Given the description of an element on the screen output the (x, y) to click on. 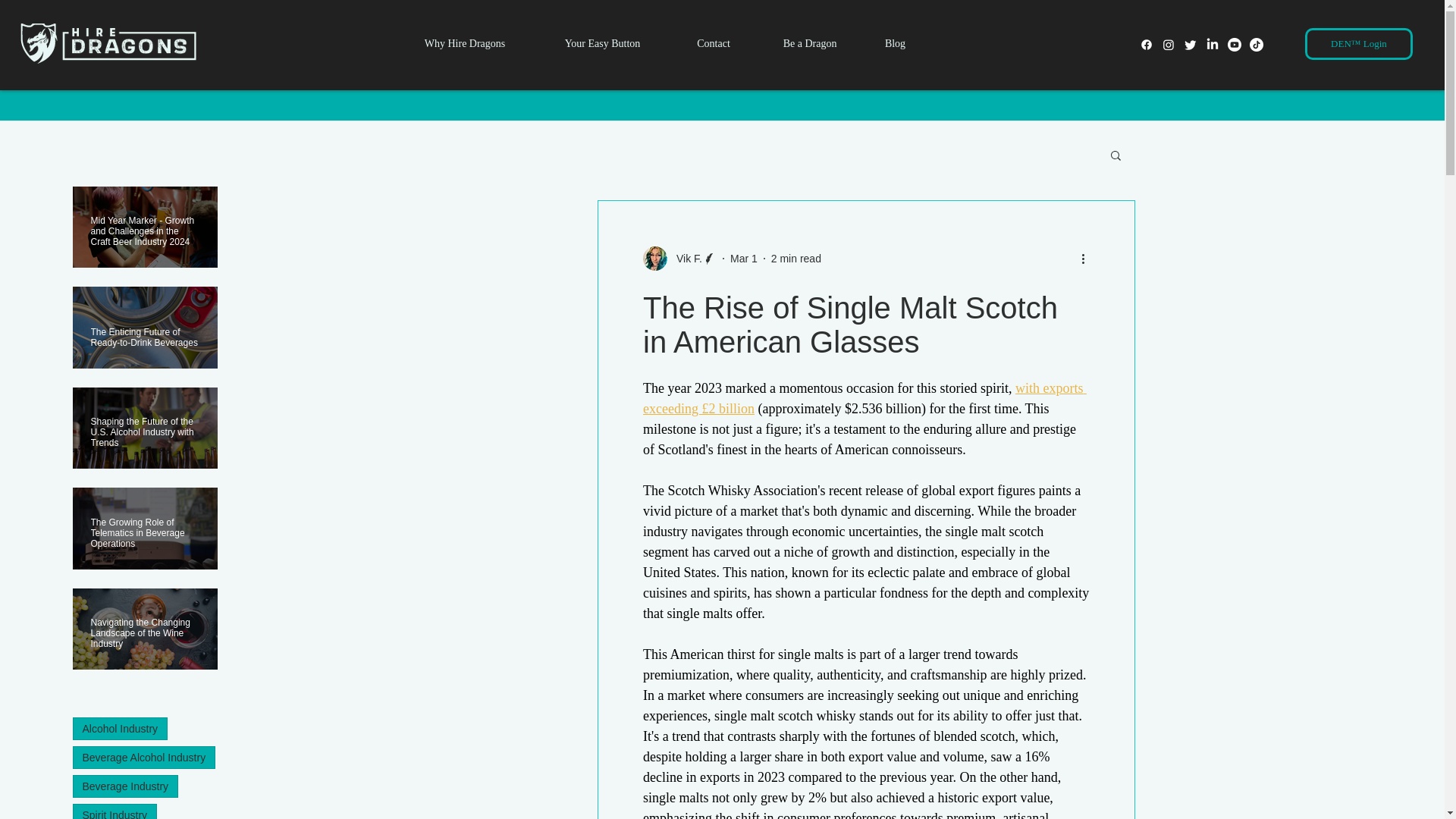
Beverage Industry (125, 785)
Mar 1 (743, 257)
2 min read (796, 257)
Beverage Alcohol Industry (143, 757)
Navigating the Changing Landscape of the Wine Industry (144, 626)
Spirit Industry (114, 811)
Why Hire Dragons (465, 43)
Alcohol Industry (120, 728)
Your Easy Button (602, 43)
